Given the description of an element on the screen output the (x, y) to click on. 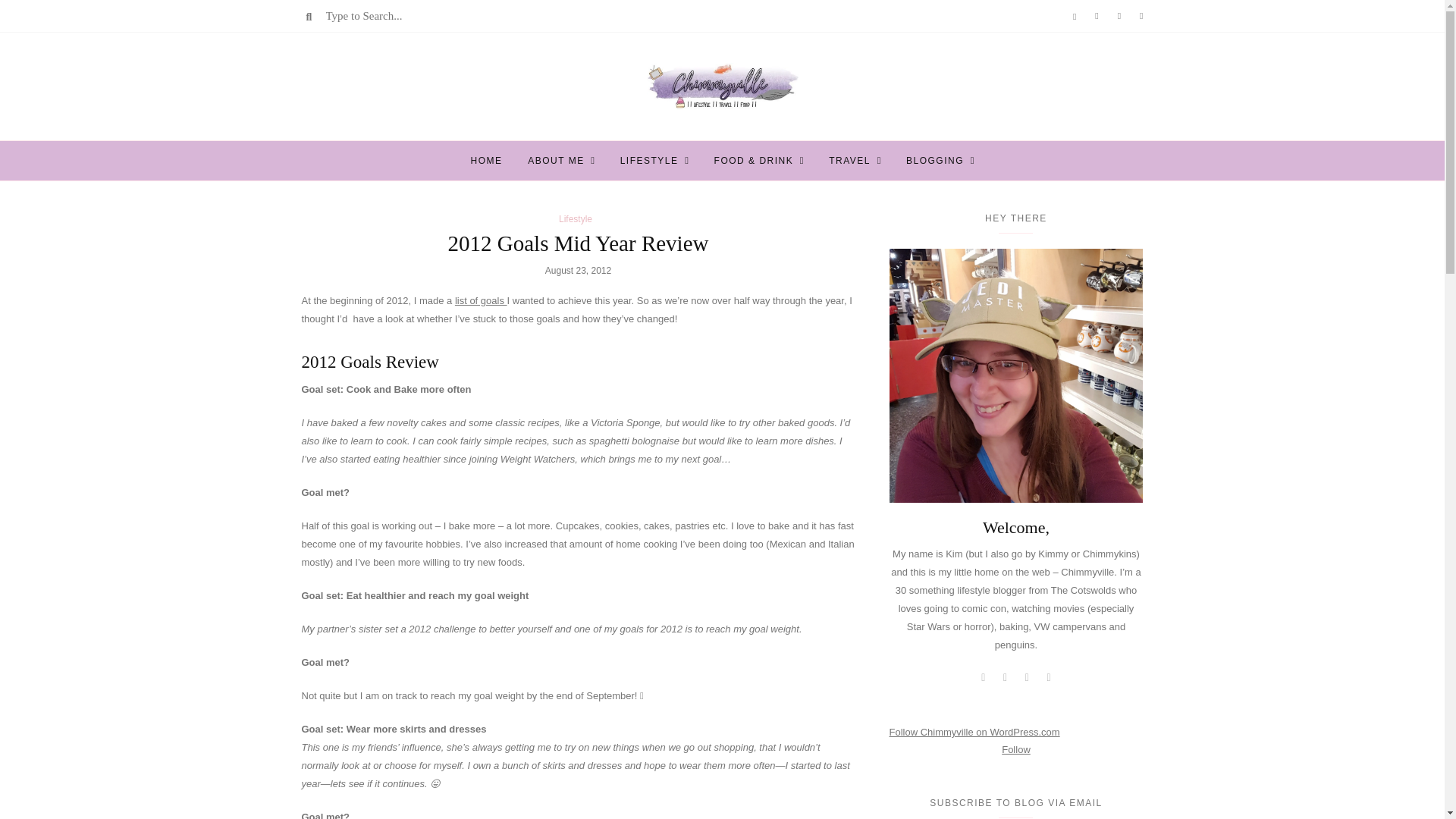
LIFESTYLE (649, 160)
Lifestyle (575, 218)
ABOUT ME (555, 160)
BLOGGING (934, 160)
TRAVEL (849, 160)
list of goals (480, 300)
